Given the description of an element on the screen output the (x, y) to click on. 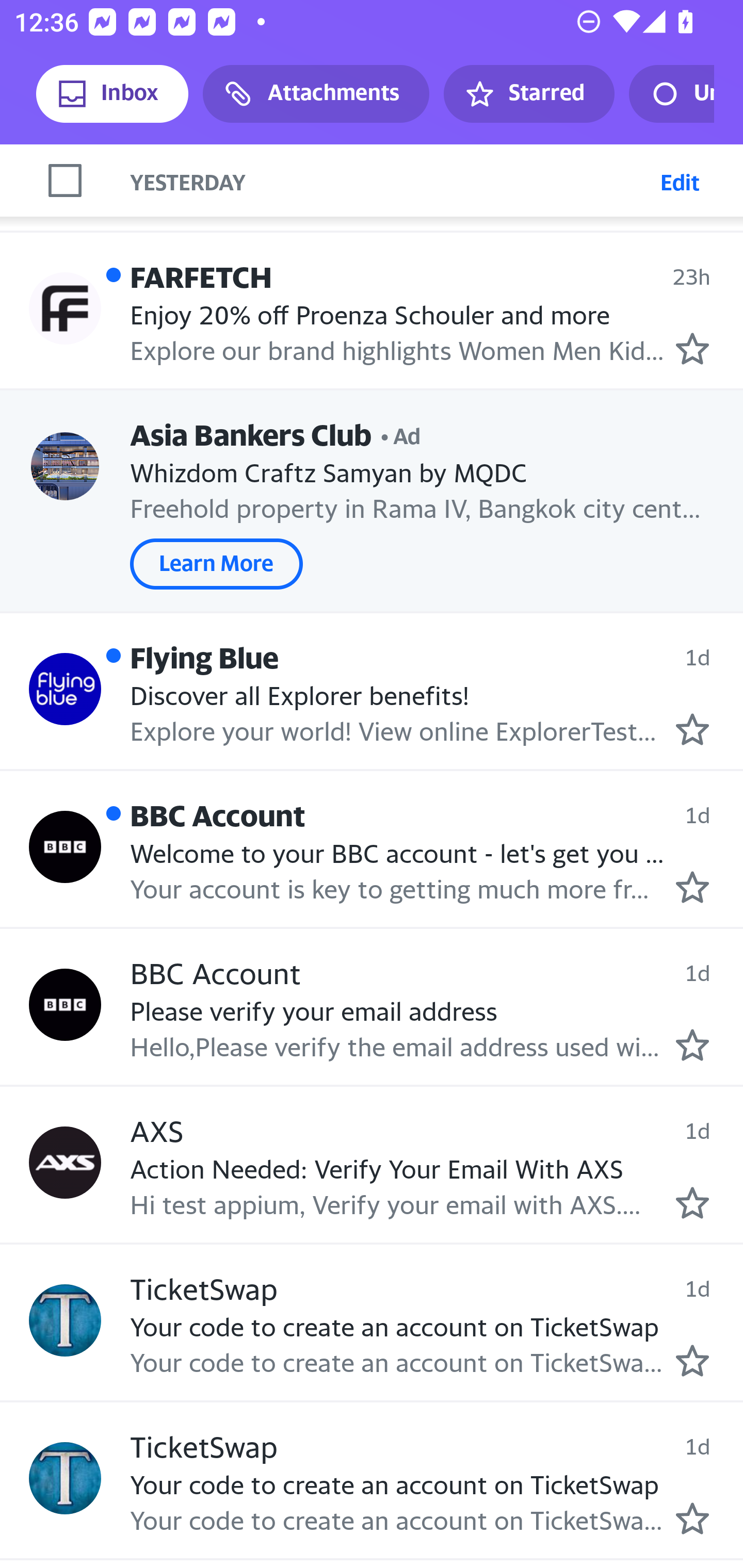
Attachments (315, 93)
Starred (528, 93)
Profile
FARFETCH (64, 308)
Mark as starred. (692, 348)
Profile
Flying Blue (64, 688)
Mark as starred. (692, 729)
Profile
BBC Account (64, 846)
Mark as starred. (692, 886)
Profile
BBC Account (64, 1005)
Mark as starred. (692, 1045)
Profile
AXS (64, 1161)
Mark as starred. (692, 1203)
Profile
TicketSwap (64, 1320)
Mark as starred. (692, 1360)
Profile
TicketSwap (64, 1478)
Mark as starred. (692, 1518)
